Given the description of an element on the screen output the (x, y) to click on. 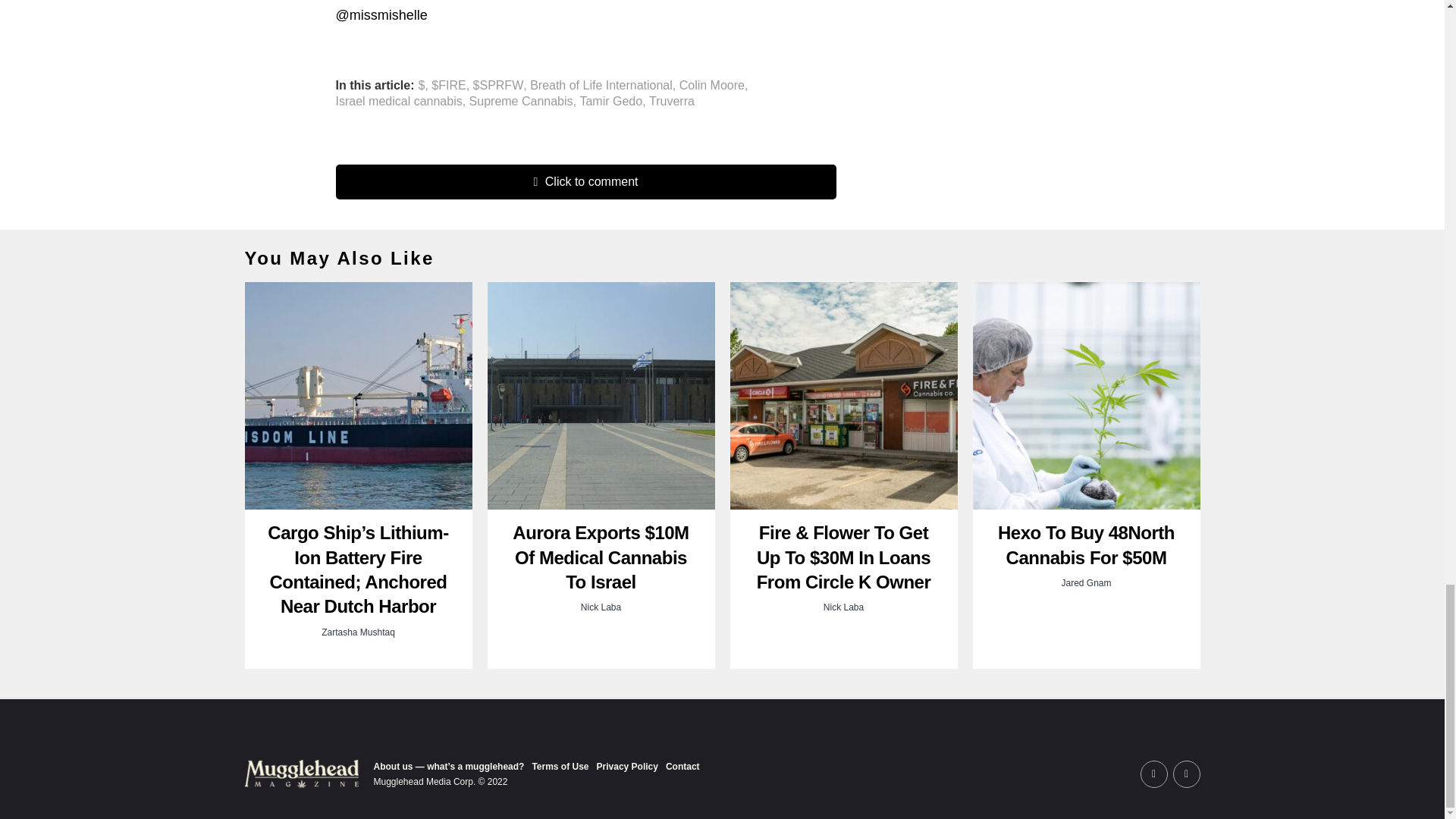
Posts by Zartasha Mushtaq (357, 632)
Posts by Nick Laba (843, 606)
Posts by Nick Laba (600, 606)
